Given the description of an element on the screen output the (x, y) to click on. 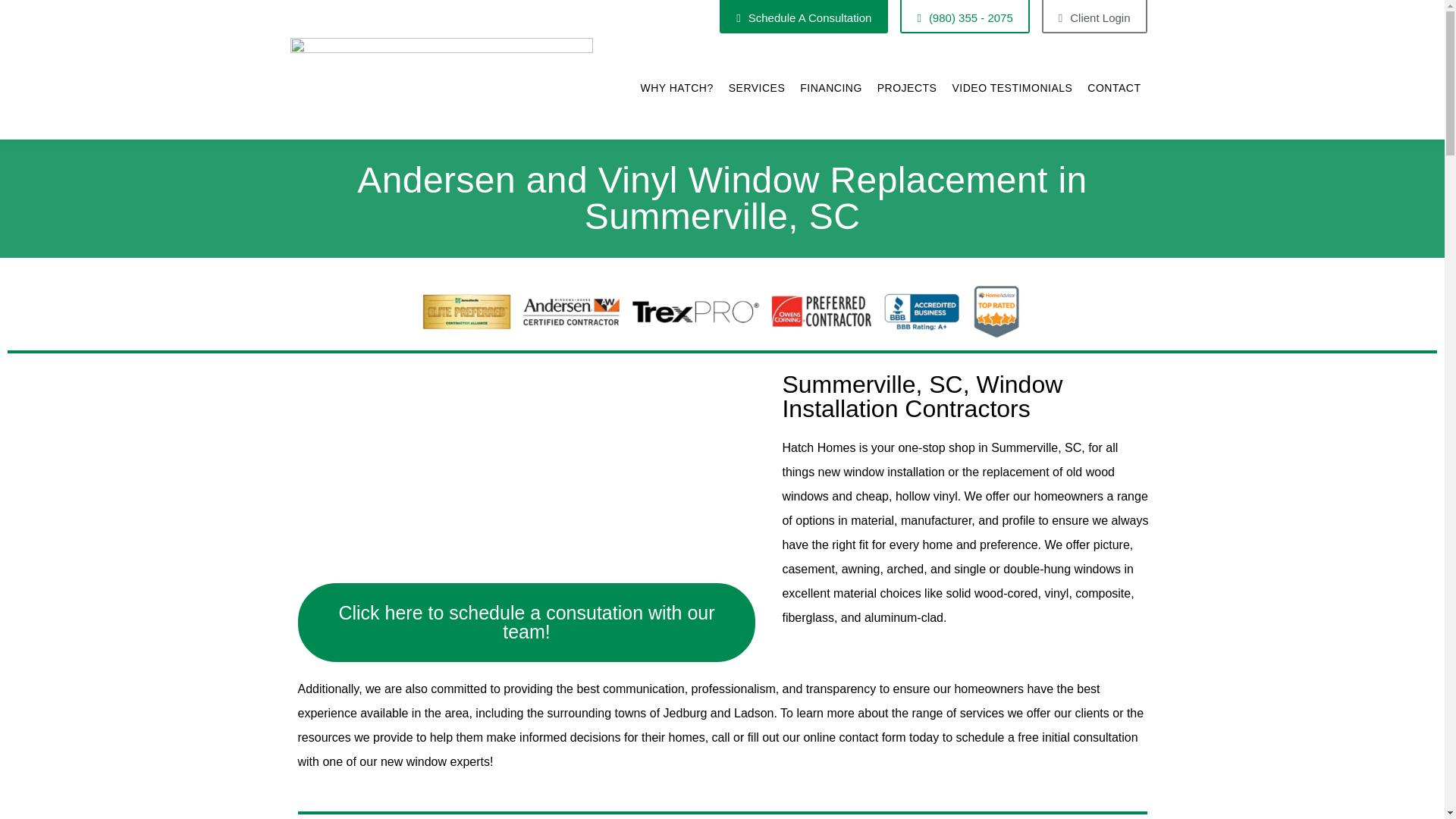
Client Login (1094, 16)
WHY HATCH? (675, 87)
SERVICES (756, 87)
Schedule A Consultation (803, 16)
